Given the description of an element on the screen output the (x, y) to click on. 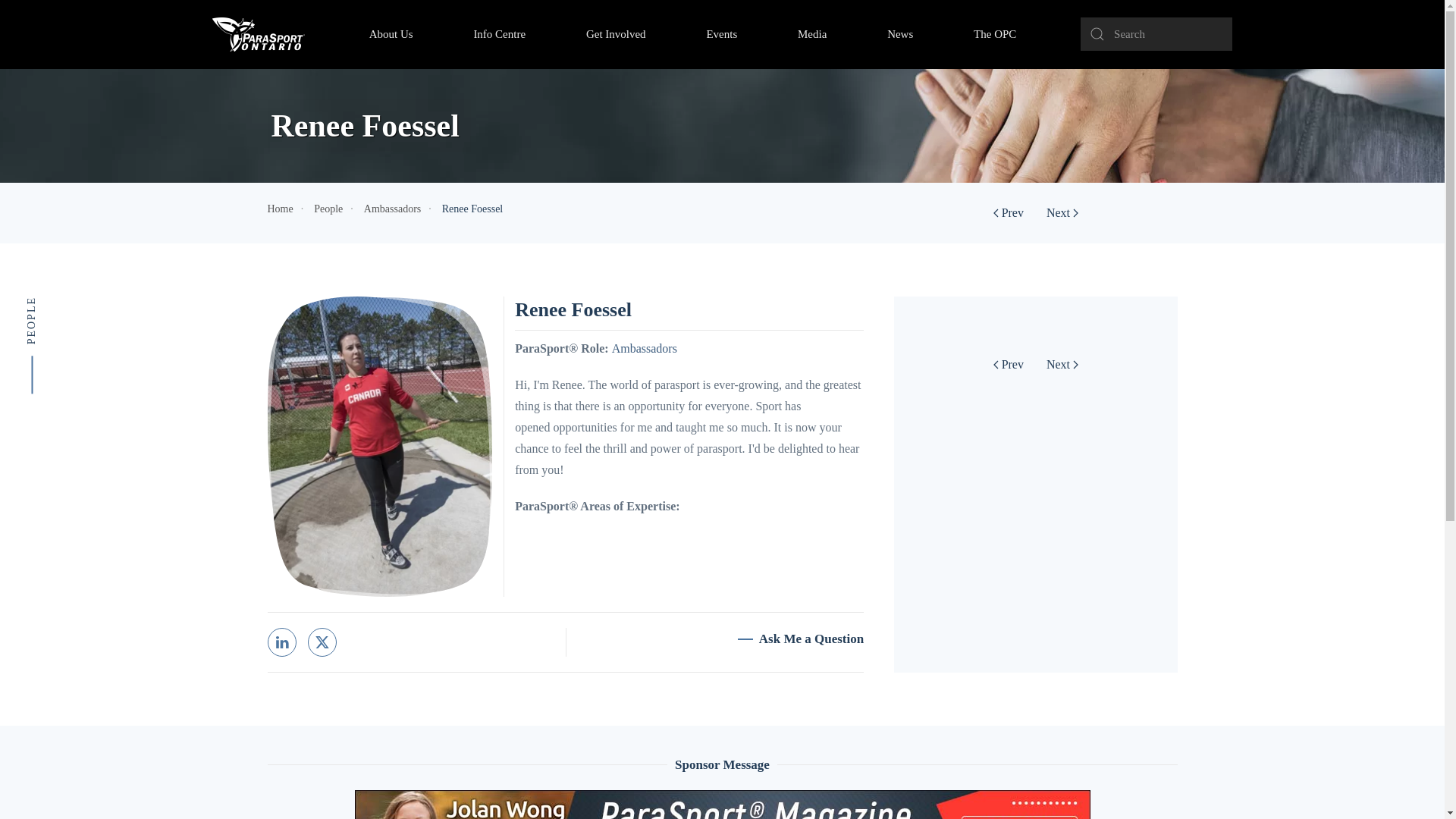
Get Involved (616, 33)
Info Centre (499, 33)
Ask Me a Question (800, 639)
Advertisement - Parasport Join Today (722, 804)
About Us (391, 33)
